Given the description of an element on the screen output the (x, y) to click on. 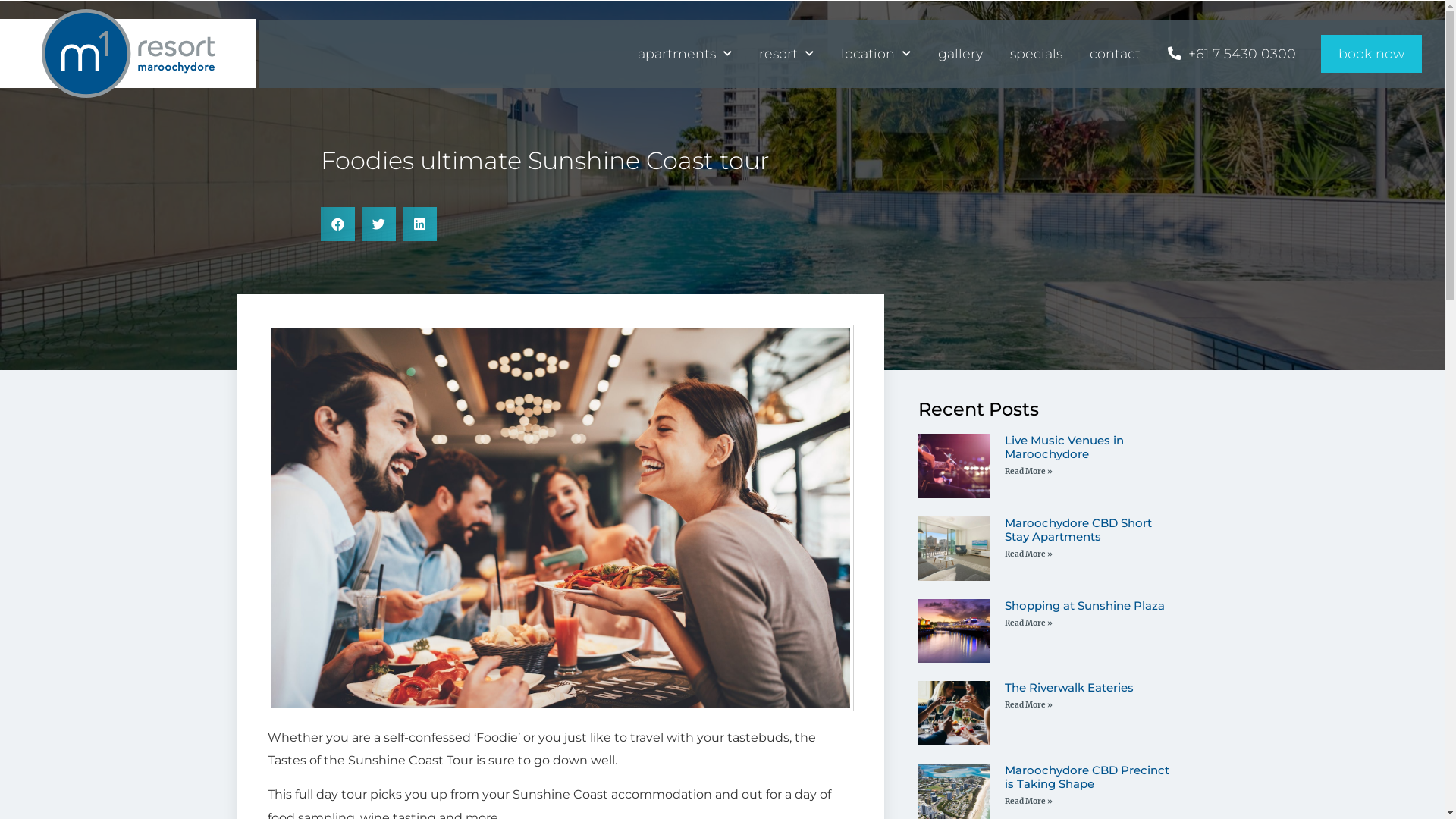
Maroochydore CBD Short Stay Apartments Element type: text (1077, 529)
+61 7 5430 0300 Element type: text (1231, 53)
specials Element type: text (1036, 53)
contact Element type: text (1115, 53)
gallery Element type: text (960, 53)
The Riverwalk Eateries Element type: text (1068, 687)
book now Element type: text (1371, 53)
resort Element type: text (786, 53)
Shopping at Sunshine Plaza Element type: text (1084, 605)
location Element type: text (875, 53)
Live Music Venues in Maroochydore Element type: text (1063, 447)
apartments Element type: text (684, 53)
Maroochydore CBD Precinct is Taking Shape Element type: text (1086, 776)
